Given the description of an element on the screen output the (x, y) to click on. 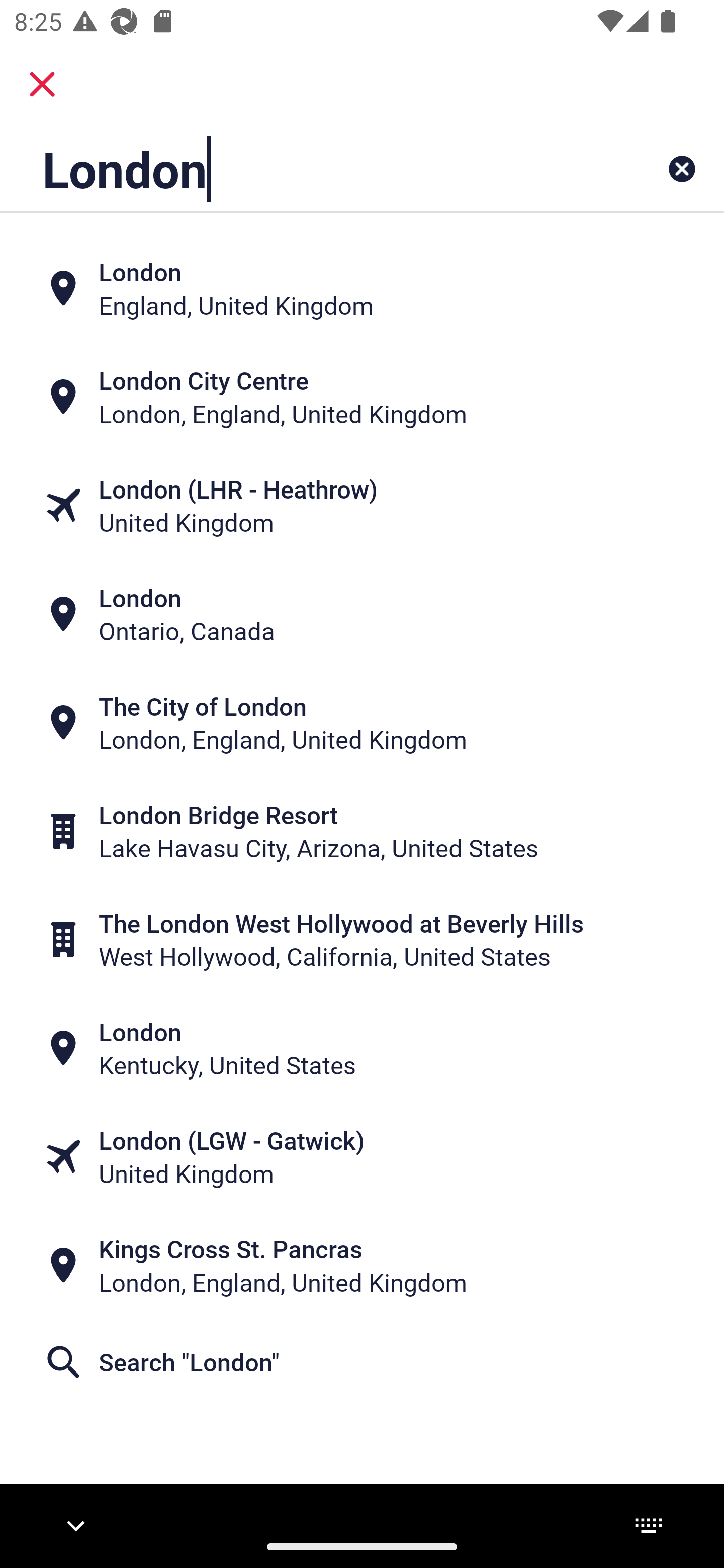
close. (42, 84)
Clear (681, 169)
London (298, 169)
London England, United Kingdom (362, 288)
London City Centre London, England, United Kingdom (362, 397)
London (LHR - Heathrow) United Kingdom (362, 505)
London Ontario, Canada (362, 613)
The City of London London, England, United Kingdom (362, 722)
London Kentucky, United States (362, 1048)
London (LGW - Gatwick) United Kingdom (362, 1156)
Search "London" (362, 1362)
